Given the description of an element on the screen output the (x, y) to click on. 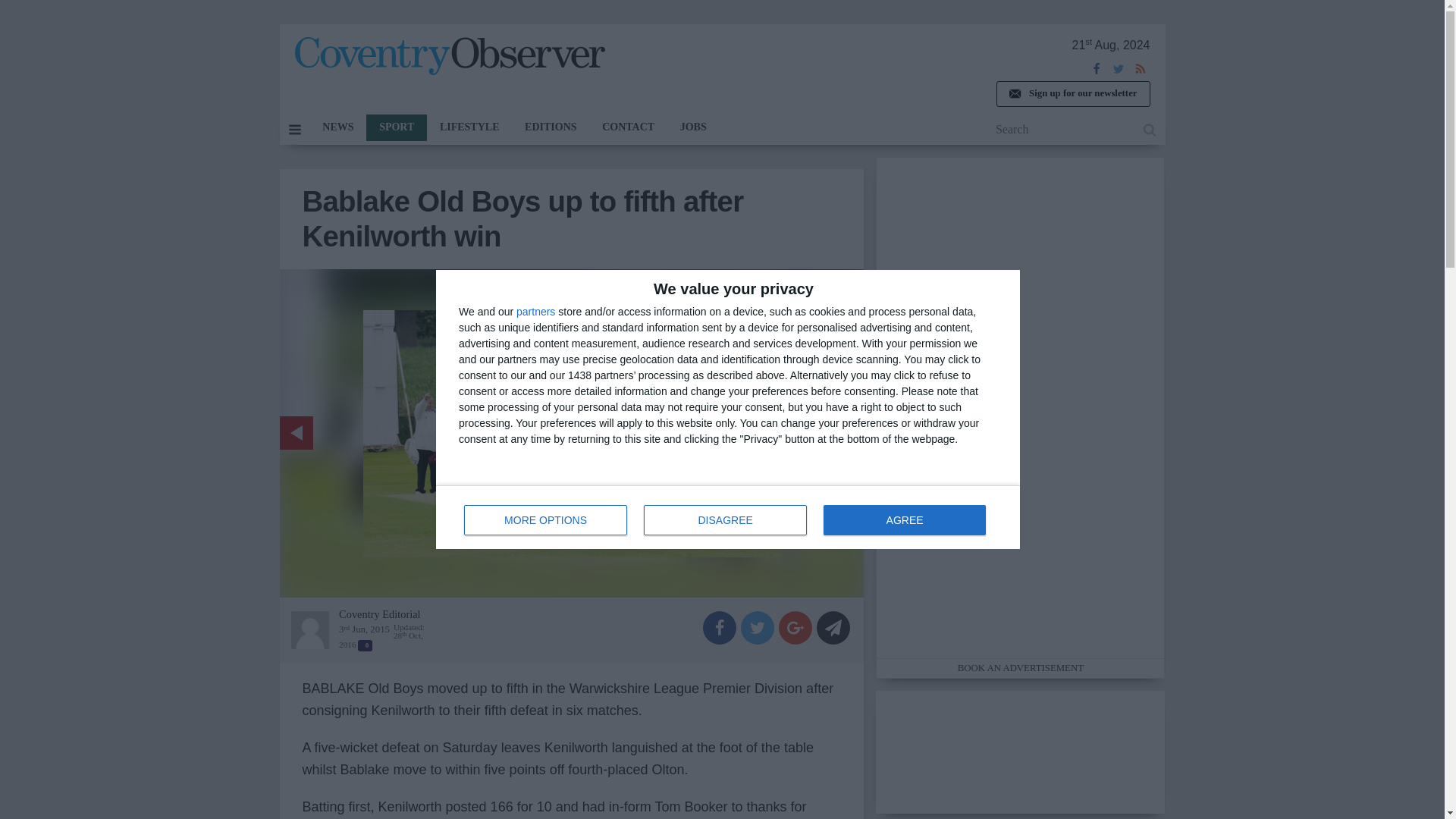
  Sign up for our newsletter (1072, 94)
AGREE (904, 520)
DISAGREE (724, 520)
The Coventry Observer (449, 55)
LIFESTYLE (469, 127)
SPORT (396, 127)
MORE OPTIONS (545, 520)
NEWS (727, 516)
partners (337, 127)
